Given the description of an element on the screen output the (x, y) to click on. 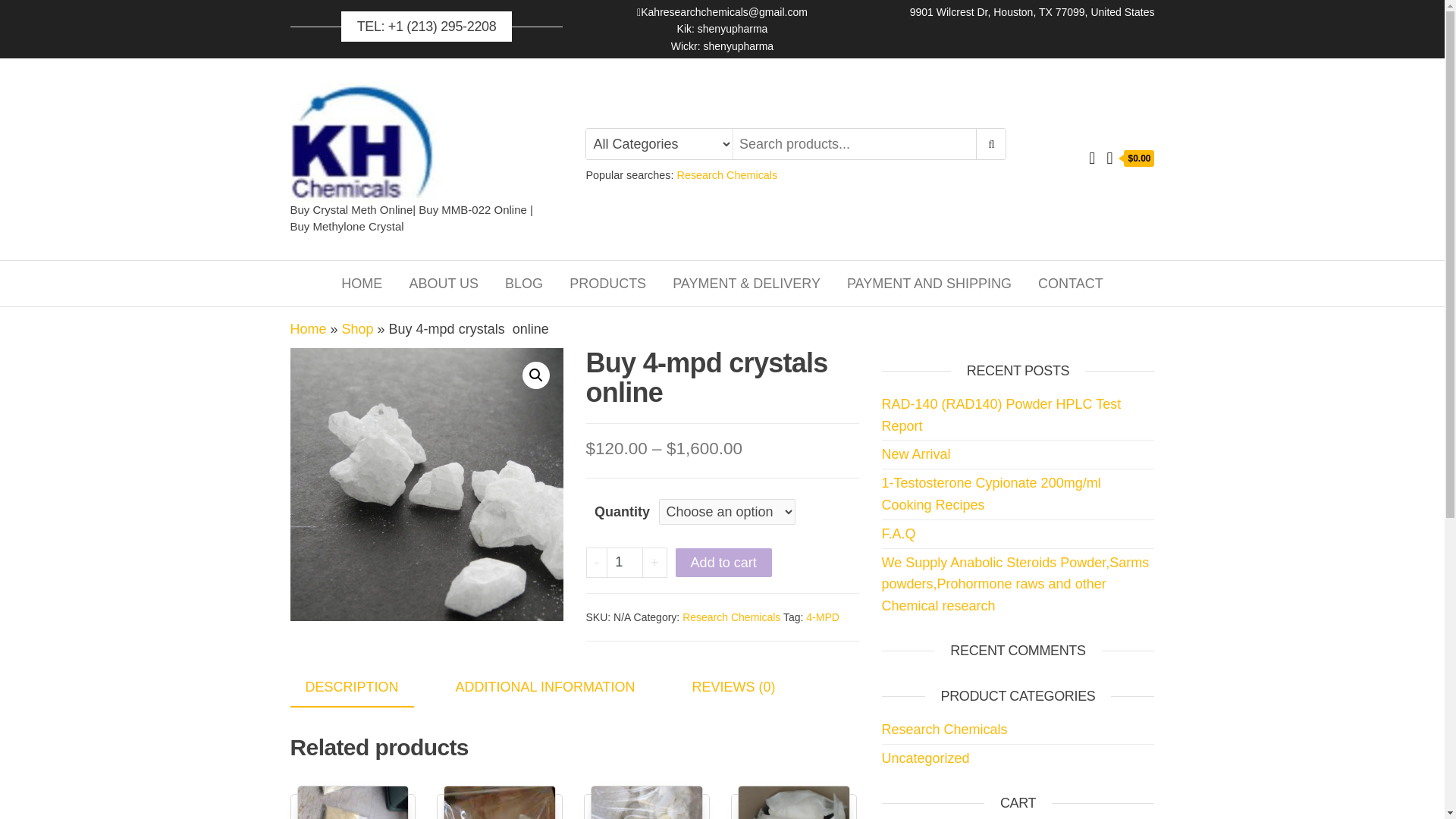
HOME (361, 283)
1 (625, 562)
Home (361, 283)
My Account (1091, 157)
Buy 4-MPD Online (425, 484)
Research Chemicals (731, 616)
Shop (358, 328)
4-MPD (823, 616)
- (596, 562)
PRODUCTS (607, 283)
ABOUT US (443, 283)
BLOG (523, 283)
Research Chemicals (727, 174)
PAYMENT AND SHIPPING (929, 283)
DESCRIPTION (351, 688)
